Given the description of an element on the screen output the (x, y) to click on. 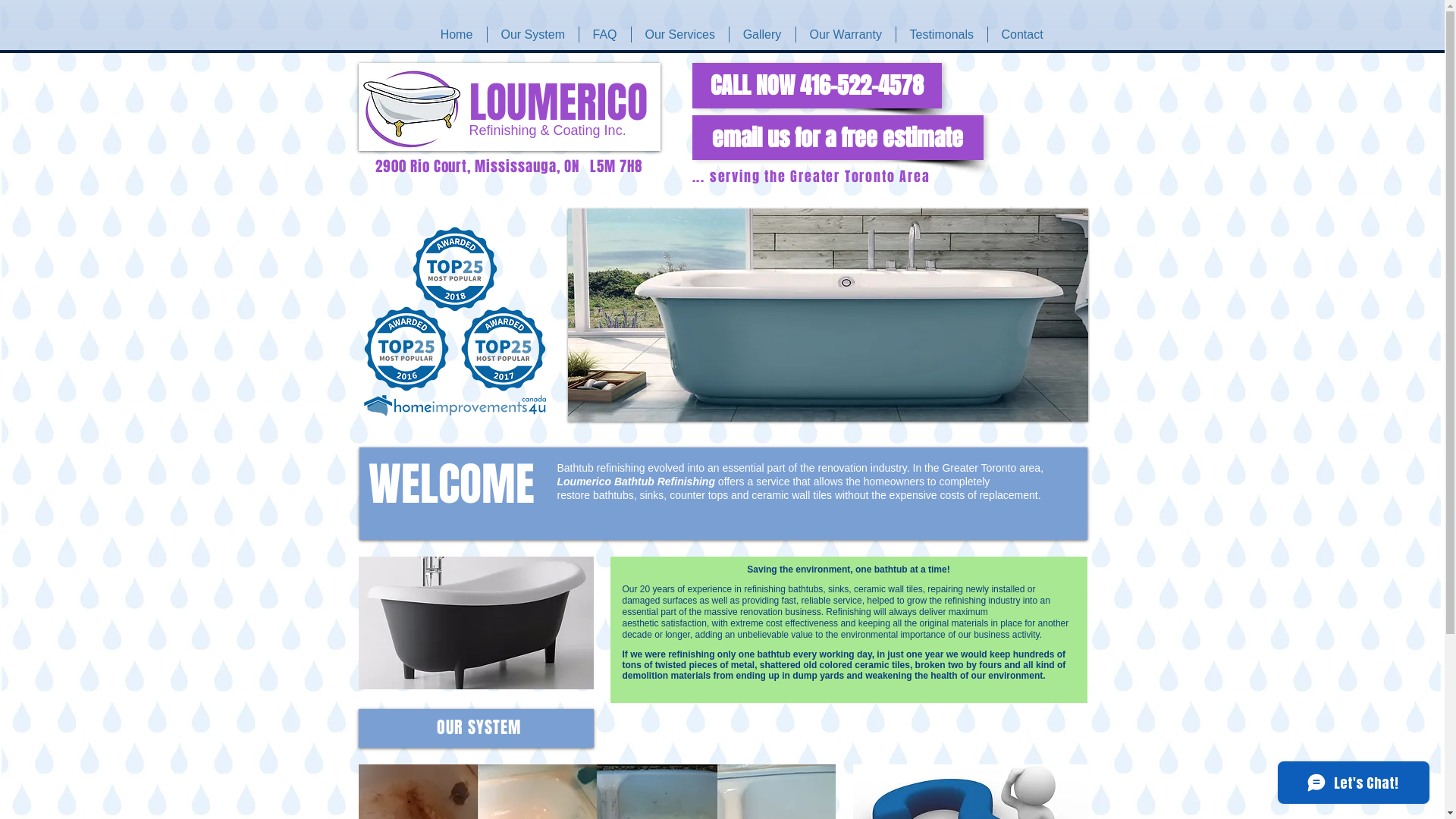
Testimonals Element type: text (941, 34)
Gallery Element type: text (762, 34)
Contact Element type: text (1021, 34)
email us for a free estimate Element type: text (836, 137)
Refinishing Element type: text (502, 130)
Home Element type: text (456, 34)
CALL NOW 416-522-4578 Element type: text (816, 85)
Our Services Element type: text (679, 34)
LOUMERICO Element type: text (557, 102)
FAQ Element type: text (604, 34)
Our Warranty Element type: text (845, 34)
Our System Element type: text (531, 34)
